Given the description of an element on the screen output the (x, y) to click on. 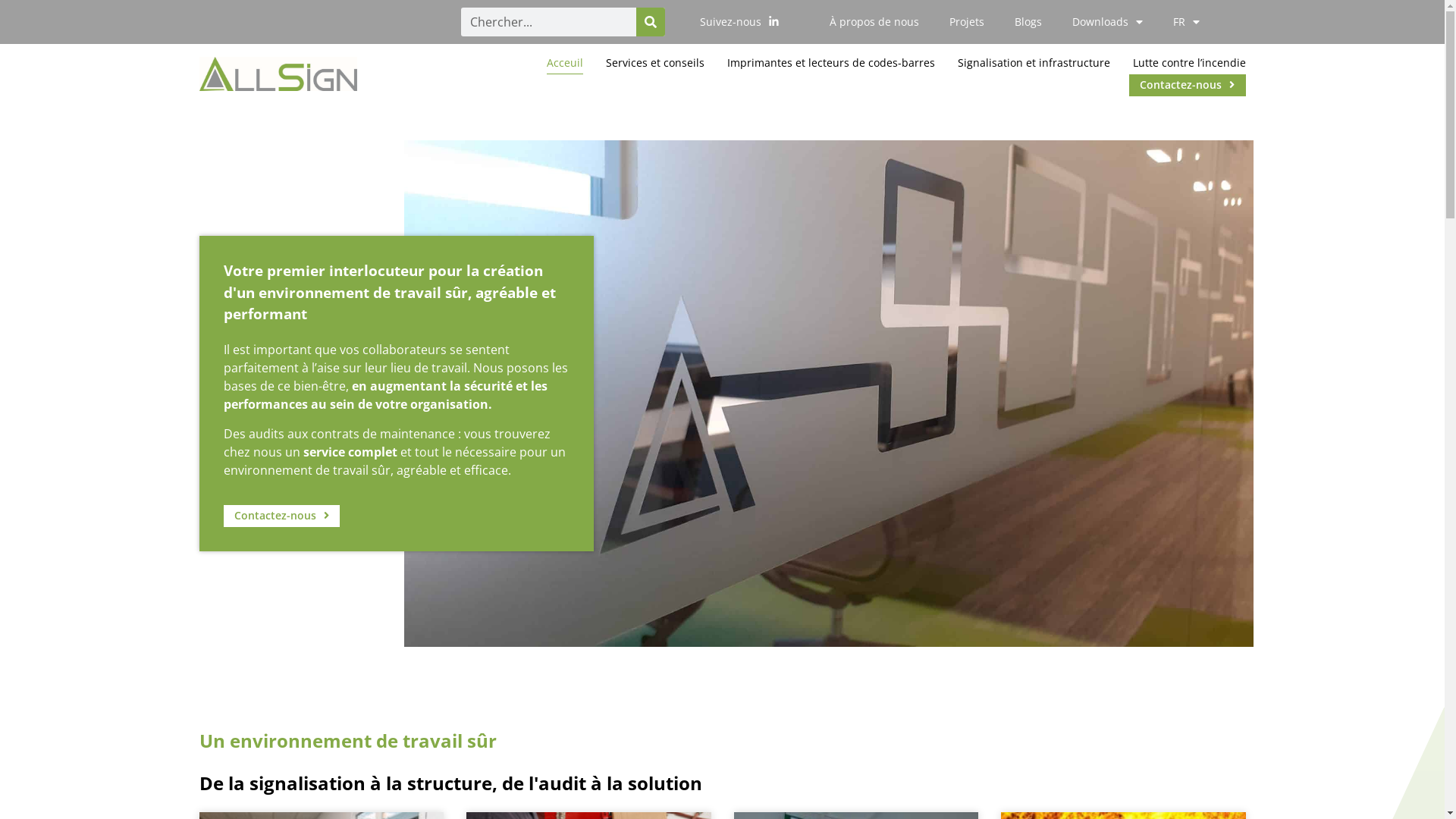
Blogs Element type: text (1027, 21)
Signalisation et infrastructure Element type: text (1033, 62)
Suivez-nous Element type: text (739, 22)
Projets Element type: text (966, 21)
Downloads Element type: text (1107, 21)
Imprimantes et lecteurs de codes-barres Element type: text (830, 62)
Contactez-nous Element type: text (1187, 85)
Services et conseils Element type: text (654, 62)
Acceuil Element type: text (564, 62)
FR Element type: text (1186, 21)
Contactez-nous Element type: text (280, 516)
